Given the description of an element on the screen output the (x, y) to click on. 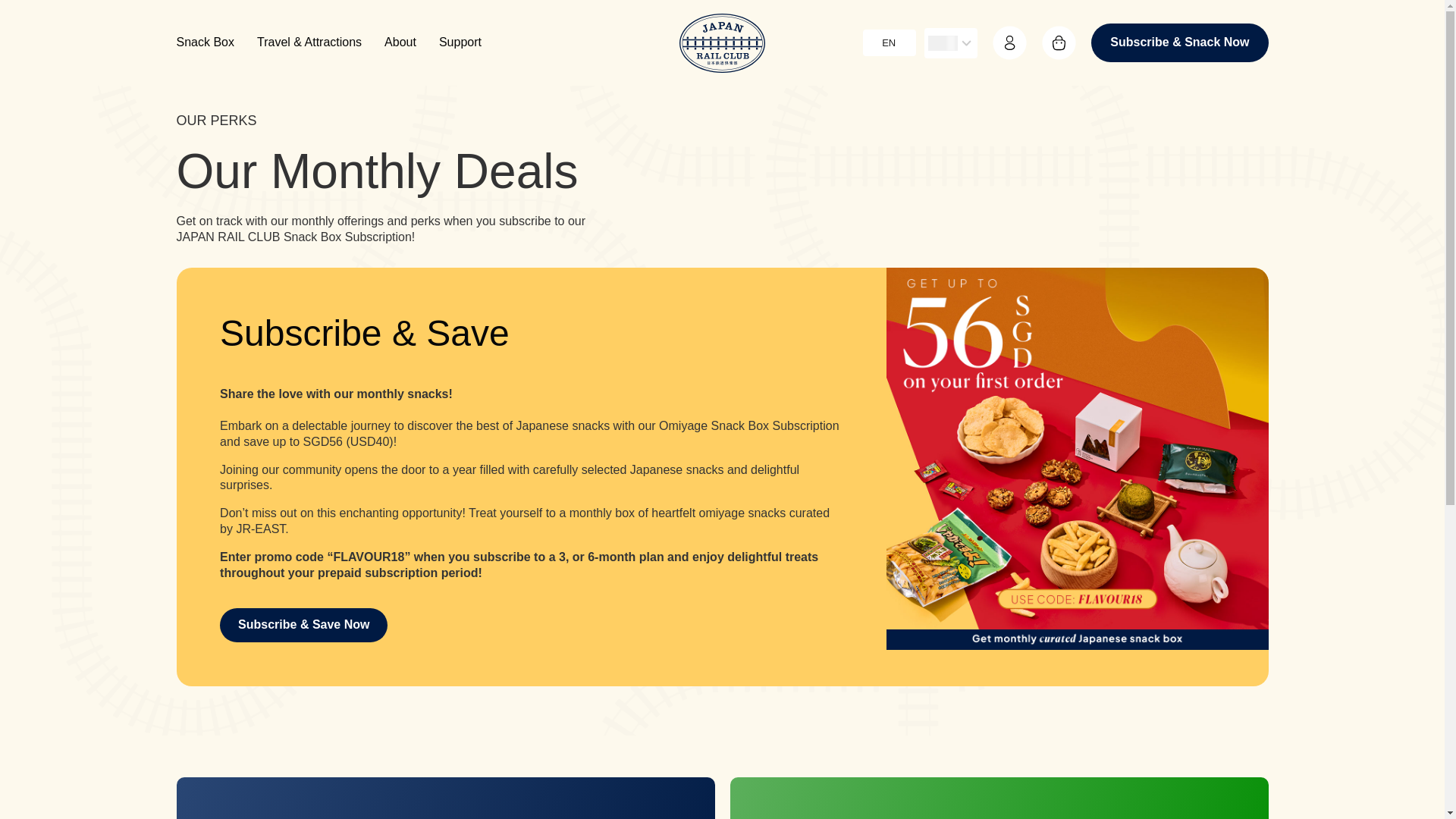
English (886, 43)
Snack Box (204, 42)
Support (460, 42)
About (400, 42)
